Given the description of an element on the screen output the (x, y) to click on. 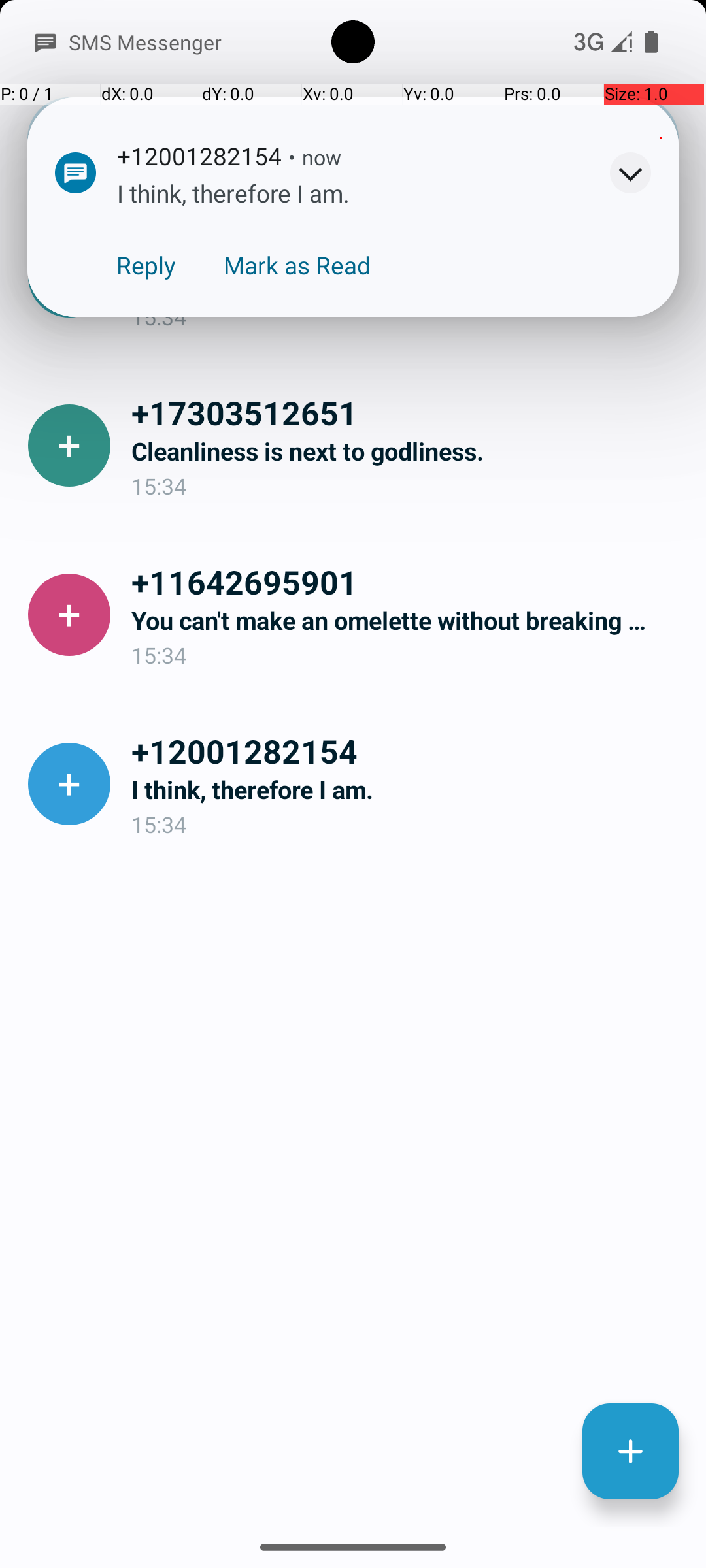
+19941811780 Element type: android.widget.TextView (408, 242)
+17303512651 Element type: android.widget.TextView (408, 412)
Cleanliness is next to godliness. Element type: android.widget.TextView (408, 450)
+11642695901 Element type: android.widget.TextView (408, 581)
You can't make an omelette without breaking a few eggs. Element type: android.widget.TextView (408, 620)
+12001282154 Element type: android.widget.TextView (408, 750)
I think, therefore I am. Element type: android.widget.TextView (408, 789)
Reply Element type: android.widget.Button (146, 265)
Mark as Read Element type: android.widget.Button (296, 265)
